Given the description of an element on the screen output the (x, y) to click on. 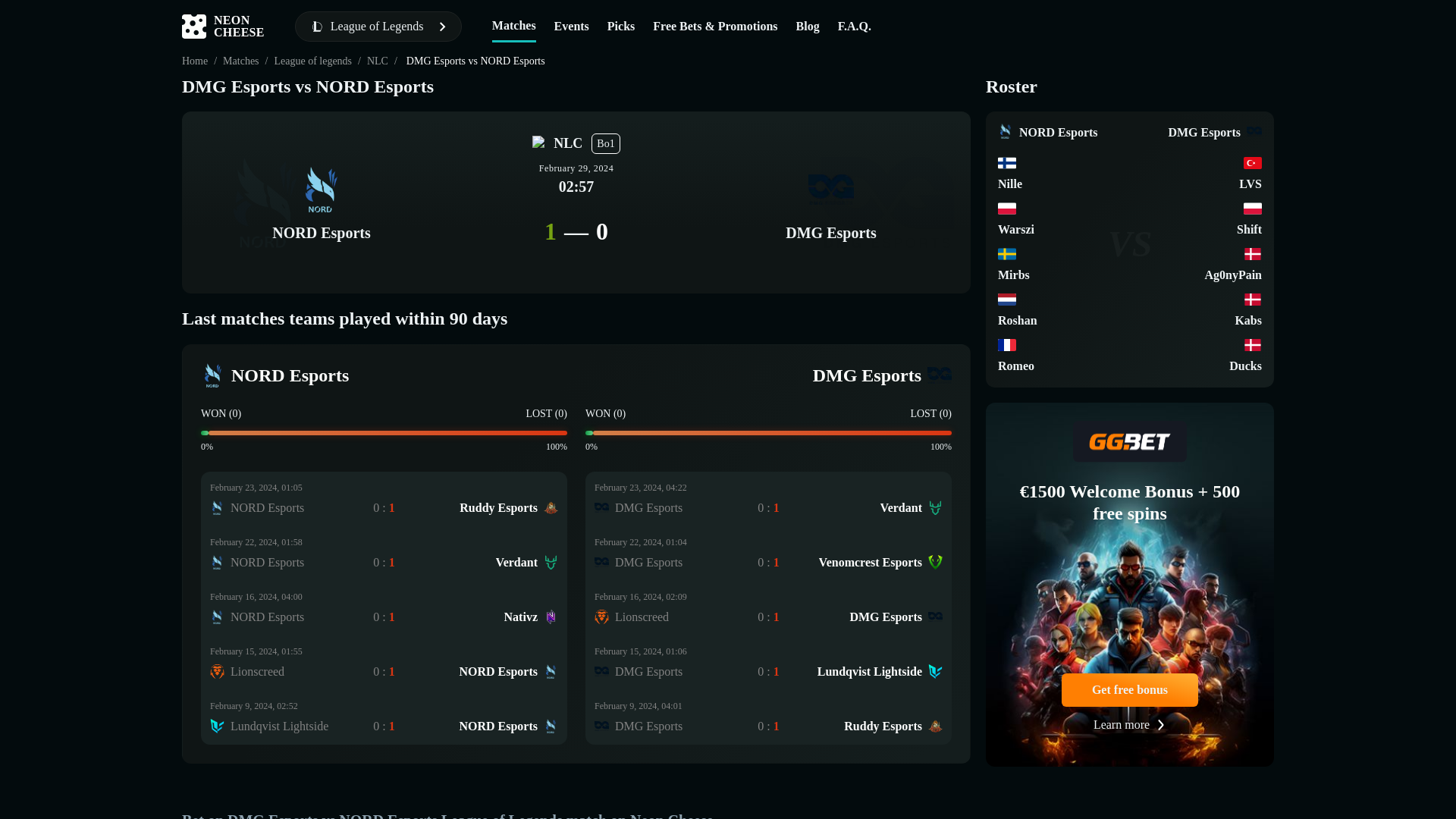
NLC (377, 60)
Matches (383, 662)
Blog (383, 498)
Events (383, 553)
